Given the description of an element on the screen output the (x, y) to click on. 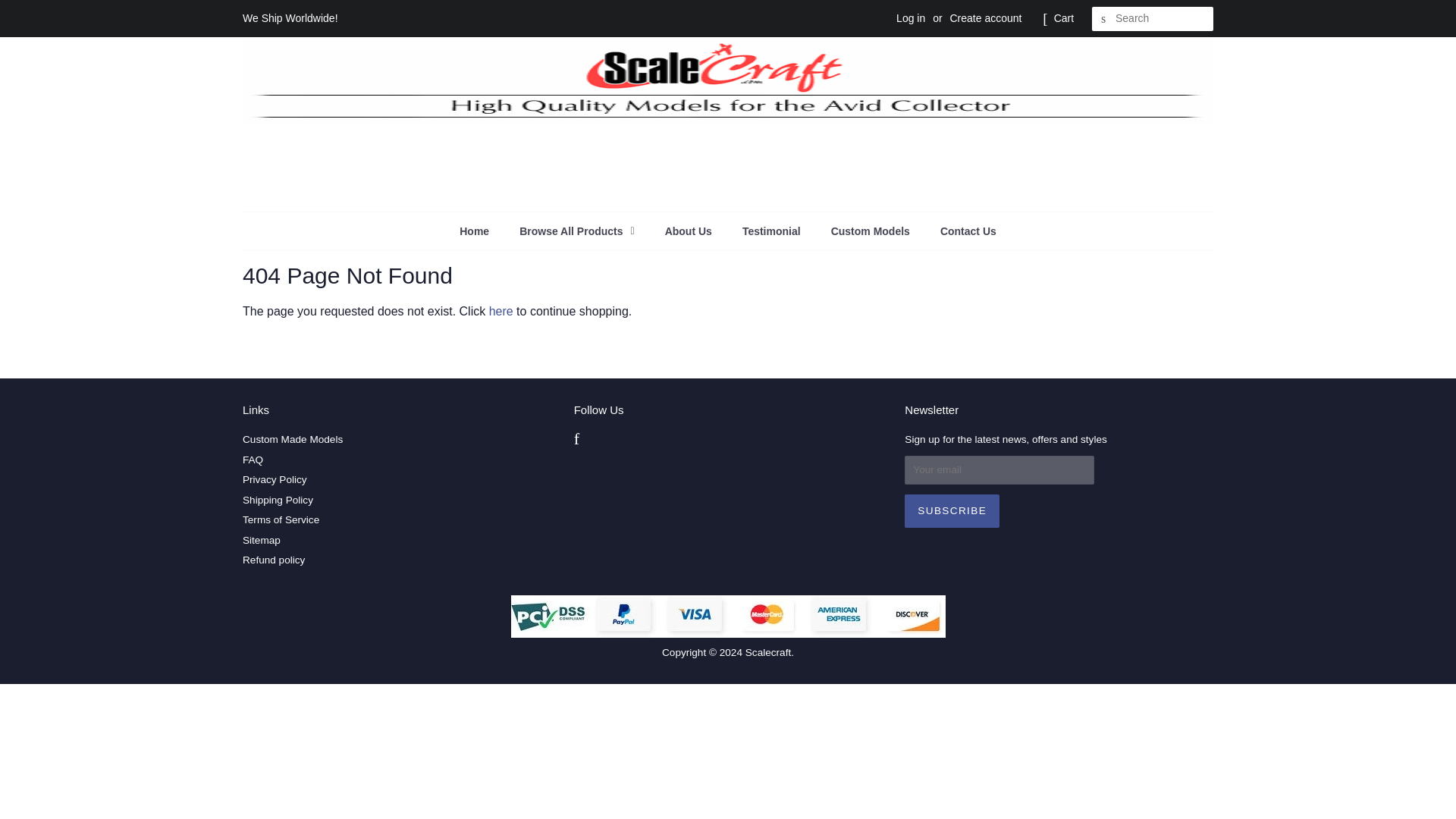
Create account (985, 18)
Log in (910, 18)
Subscribe (951, 510)
Cart (1064, 18)
SEARCH (1104, 18)
